Given the description of an element on the screen output the (x, y) to click on. 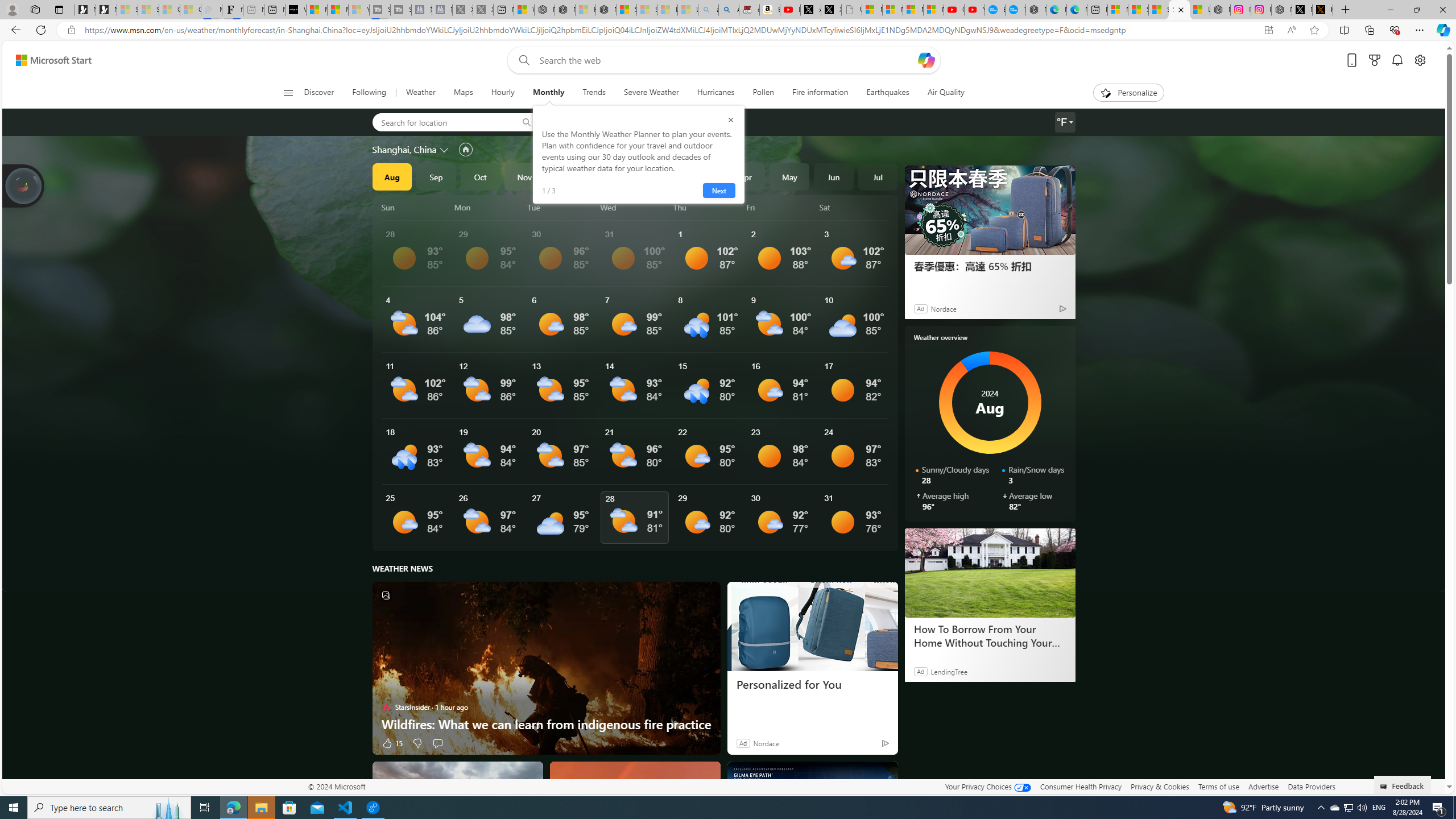
Fire information (820, 92)
Severe Weather (651, 92)
AutomationID: donut-chart-monthly (990, 402)
Oct (480, 176)
Join us in planting real trees to help our planet! (23, 185)
Join us in planting real trees to help our planet! (23, 184)
